Given the description of an element on the screen output the (x, y) to click on. 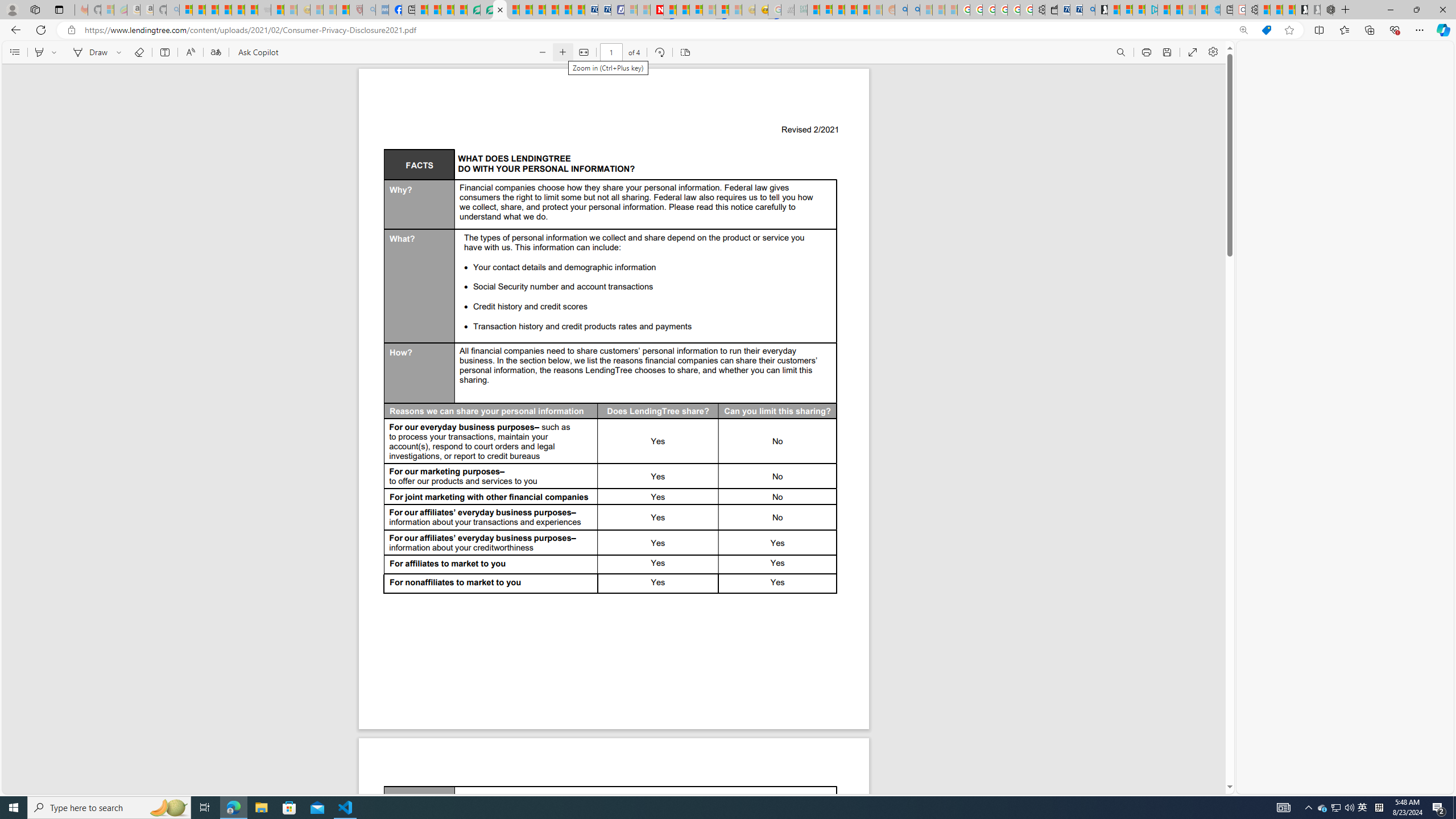
Bing Real Estate - Home sales and rental listings (1088, 9)
Wallet (1050, 9)
Highlight (39, 52)
Ask Copilot (257, 52)
Latest Politics News & Archive | Newsweek.com (656, 9)
